Given the description of an element on the screen output the (x, y) to click on. 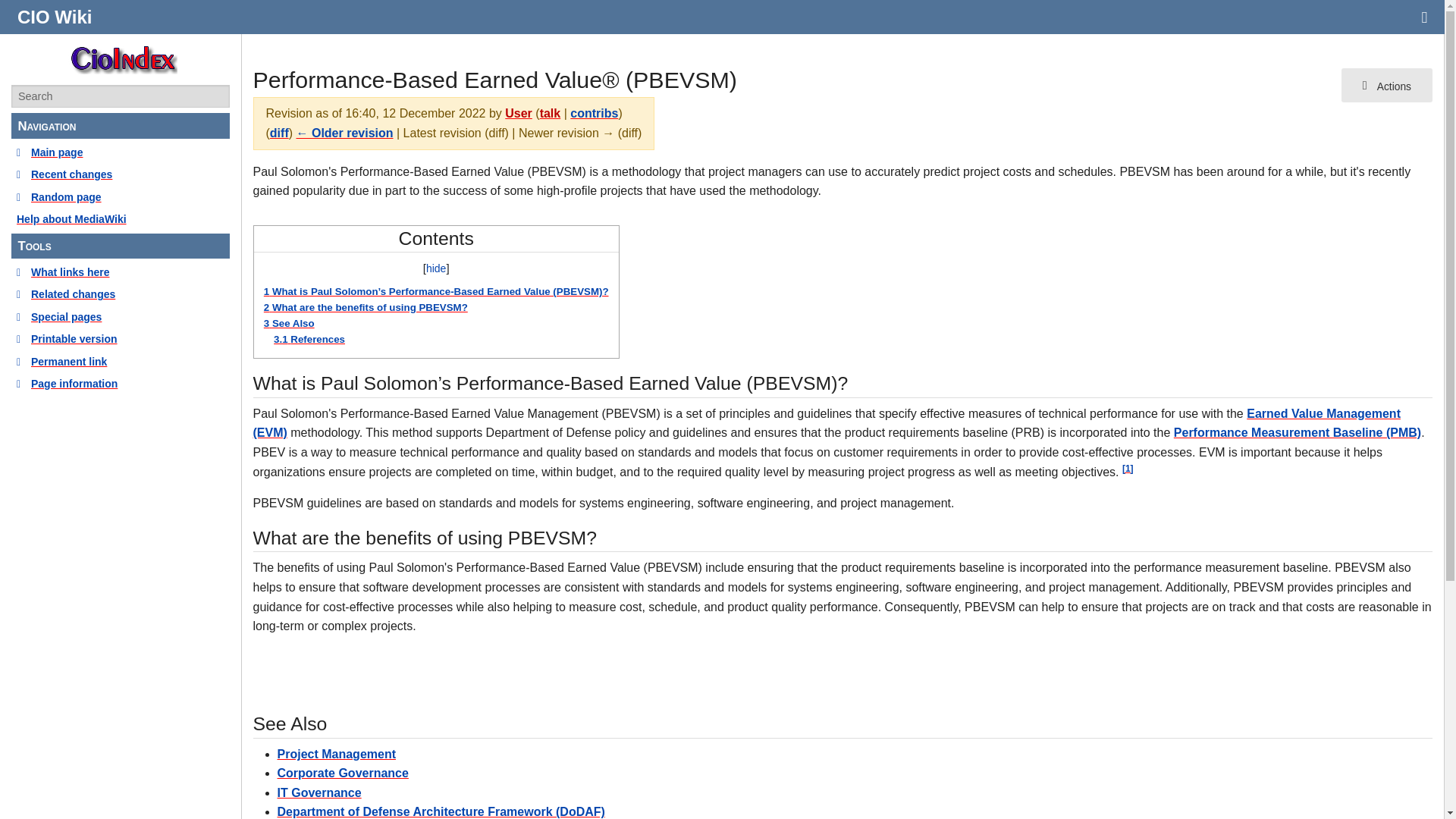
3 See Also (288, 323)
User (518, 113)
Random page (120, 197)
Permanent link (120, 361)
Recent changes (120, 174)
3.1 References (309, 338)
diff (278, 132)
Main page (120, 152)
2 What are the benefits of using PBEVSM? (365, 307)
Page information (120, 383)
talk (550, 113)
CIO Wiki (54, 16)
Printable version (120, 338)
contribs (593, 113)
What links here (120, 271)
